Given the description of an element on the screen output the (x, y) to click on. 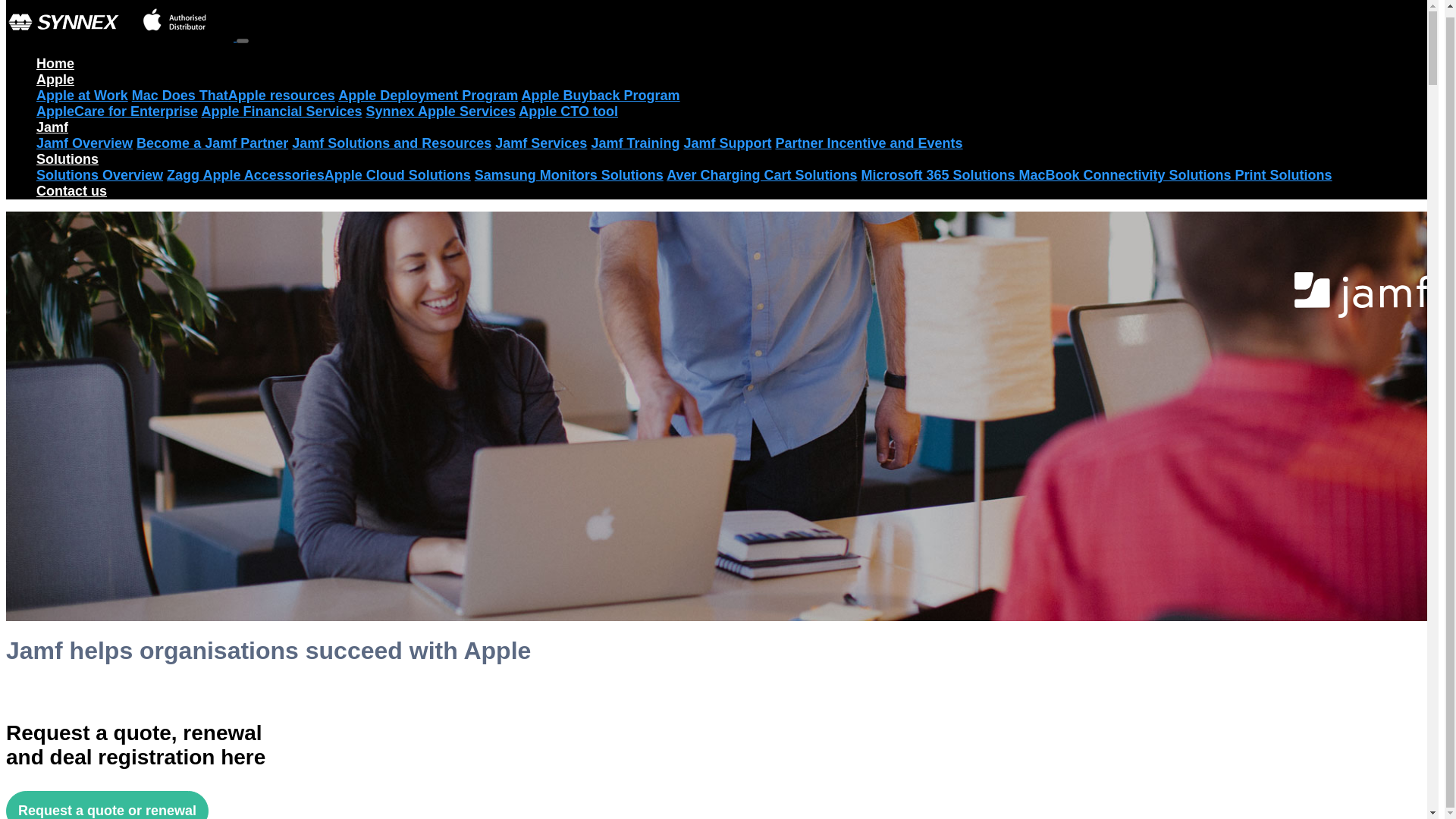
Apple CTO tool (567, 111)
Solutions (67, 159)
Mac Does That (180, 95)
Samsung Monitors Solutions (568, 174)
Apple resources (281, 95)
Synnex Apple Services (440, 111)
Request a quote or renewal (106, 805)
Contact us (71, 191)
Solutions Overview (99, 174)
Jamf Training (635, 142)
